Given the description of an element on the screen output the (x, y) to click on. 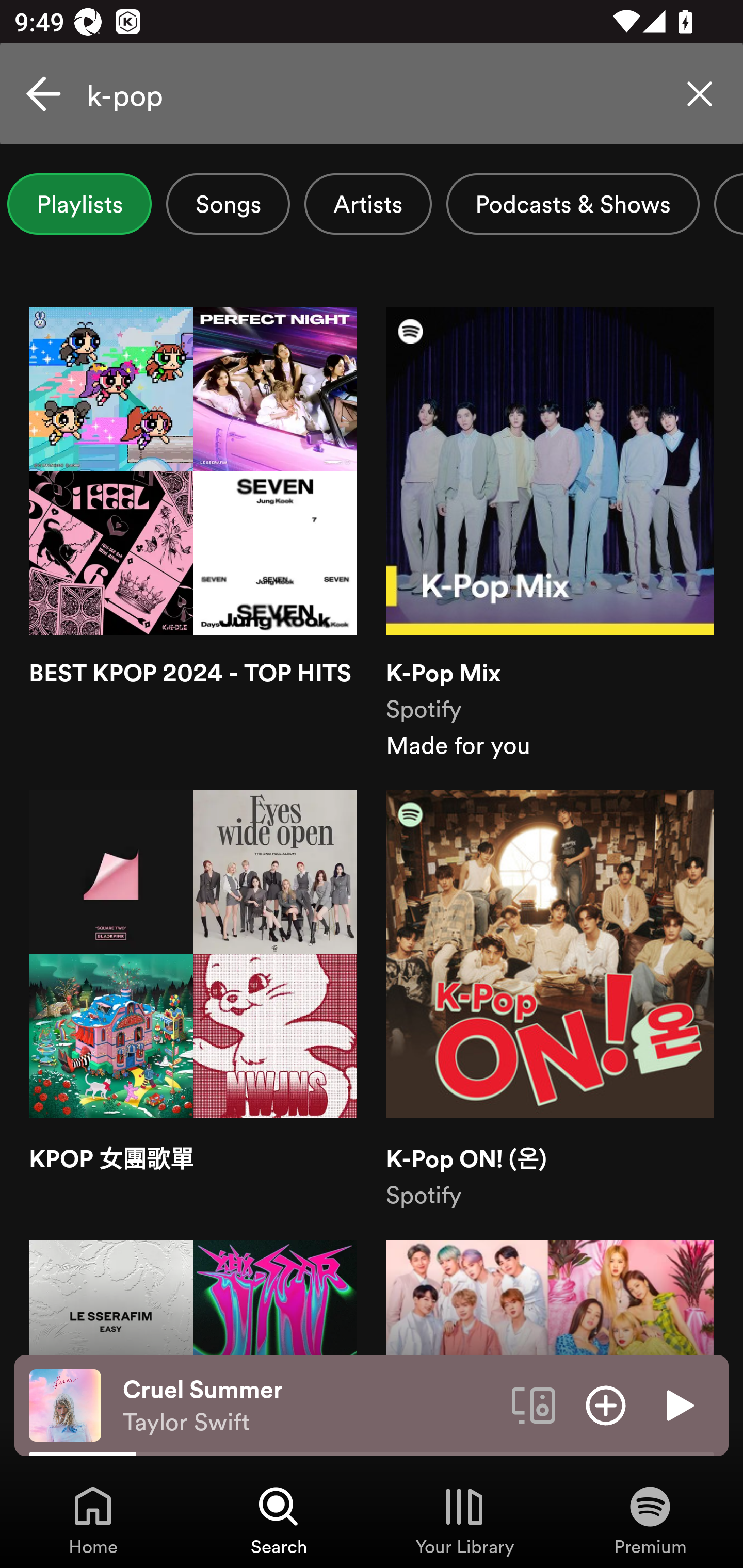
k-pop (371, 93)
Cancel (43, 93)
Clear search query (699, 93)
Playlists (79, 203)
Songs (227, 203)
Artists (367, 203)
Podcasts & Shows (572, 203)
BEST KPOP 2024 - TOP HITS (192, 534)
K-Pop Mix Spotify Made for you (549, 534)
KPOP 女團歌單 (192, 1000)
K-Pop ON! (온) Spotify (549, 1000)
Cruel Summer Taylor Swift (309, 1405)
The cover art of the currently playing track (64, 1404)
Connect to a device. Opens the devices menu (533, 1404)
Add item (605, 1404)
Play (677, 1404)
Home, Tab 1 of 4 Home Home (92, 1519)
Search, Tab 2 of 4 Search Search (278, 1519)
Your Library, Tab 3 of 4 Your Library Your Library (464, 1519)
Premium, Tab 4 of 4 Premium Premium (650, 1519)
